Given the description of an element on the screen output the (x, y) to click on. 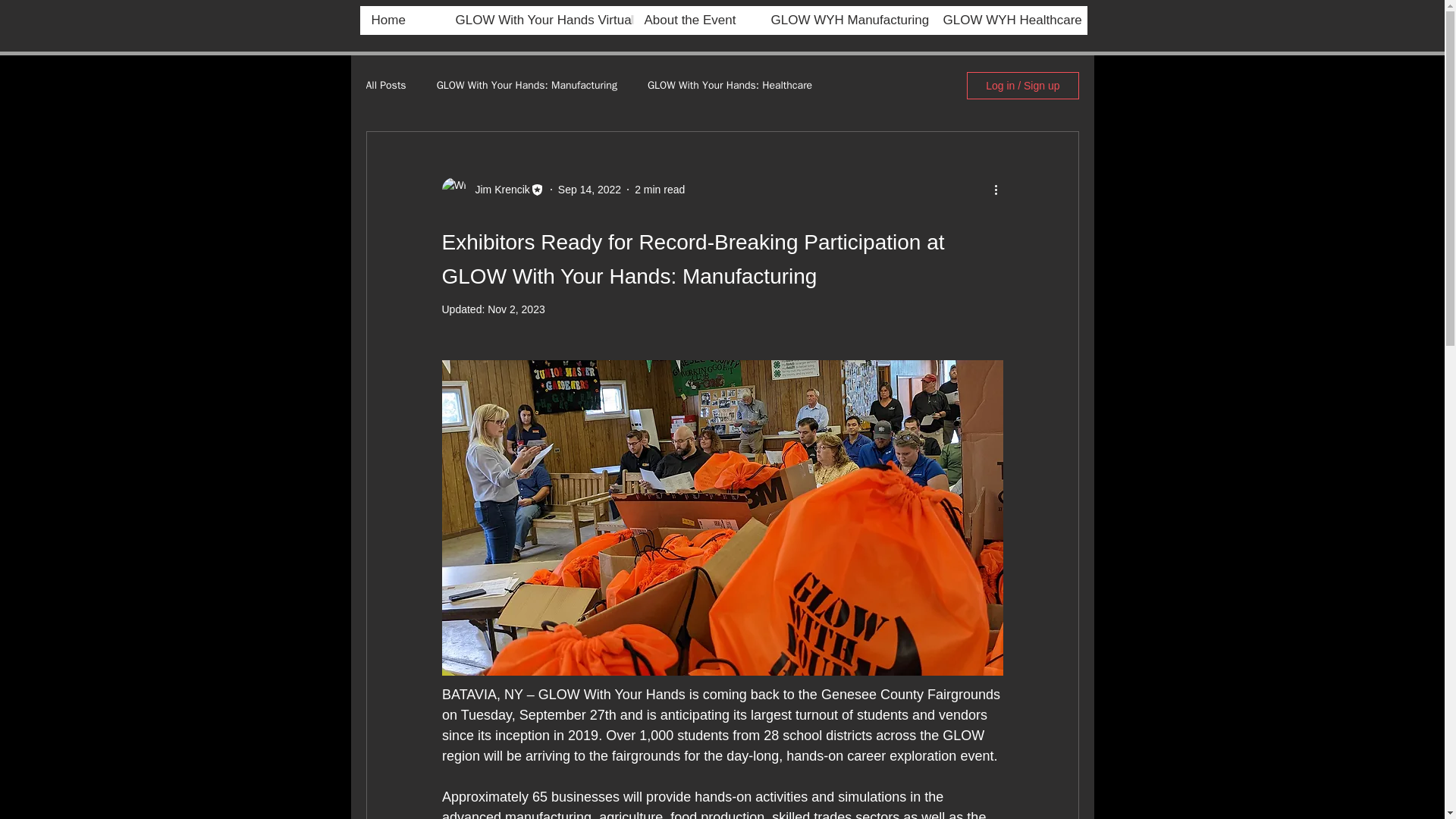
GLOW With Your Hands: Manufacturing (526, 85)
GLOW With Your Hands: Healthcare (729, 85)
GLOW WYH Manufacturing (844, 20)
Jim Krencik (497, 189)
All Posts (385, 85)
Sep 14, 2022 (589, 189)
About the Event (694, 20)
Home (400, 20)
2 min read (659, 189)
GLOW WYH Healthcare (1009, 20)
